Given the description of an element on the screen output the (x, y) to click on. 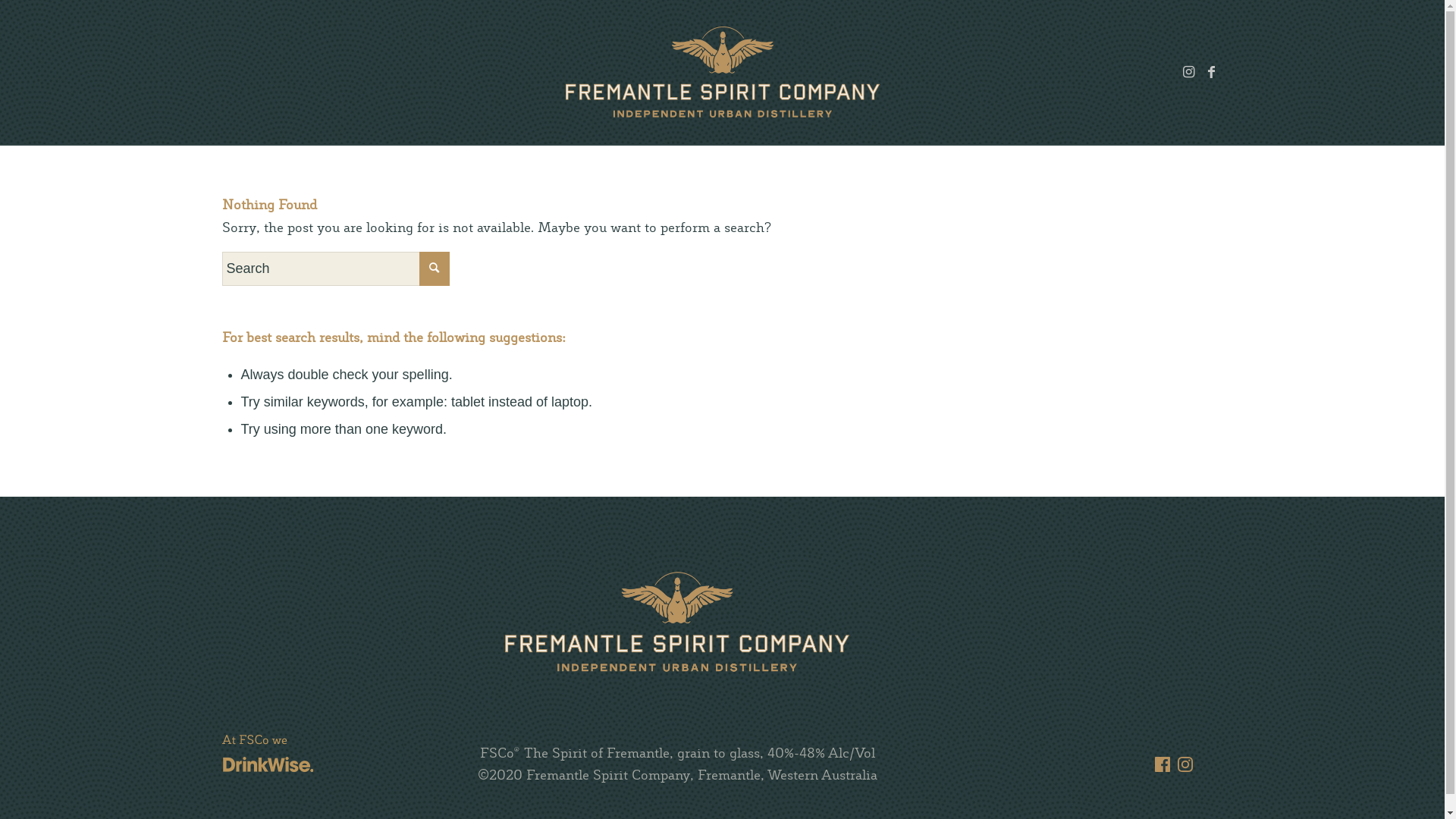
Fremantle Spirit Company Element type: hover (721, 72)
Instagram Element type: hover (1187, 71)
Facebook Element type: hover (1210, 71)
